Given the description of an element on the screen output the (x, y) to click on. 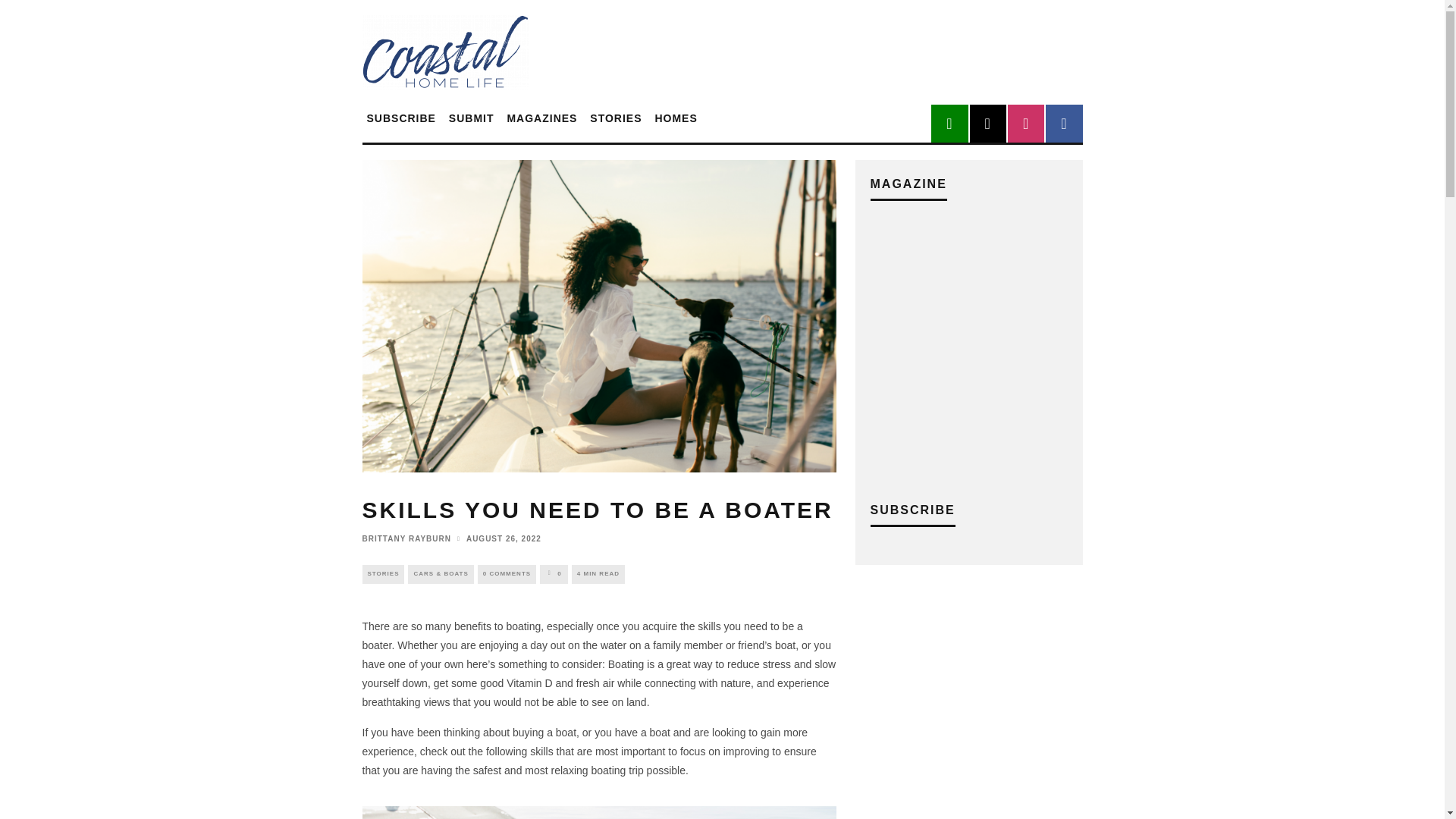
View all posts in Stories (383, 574)
